Given the description of an element on the screen output the (x, y) to click on. 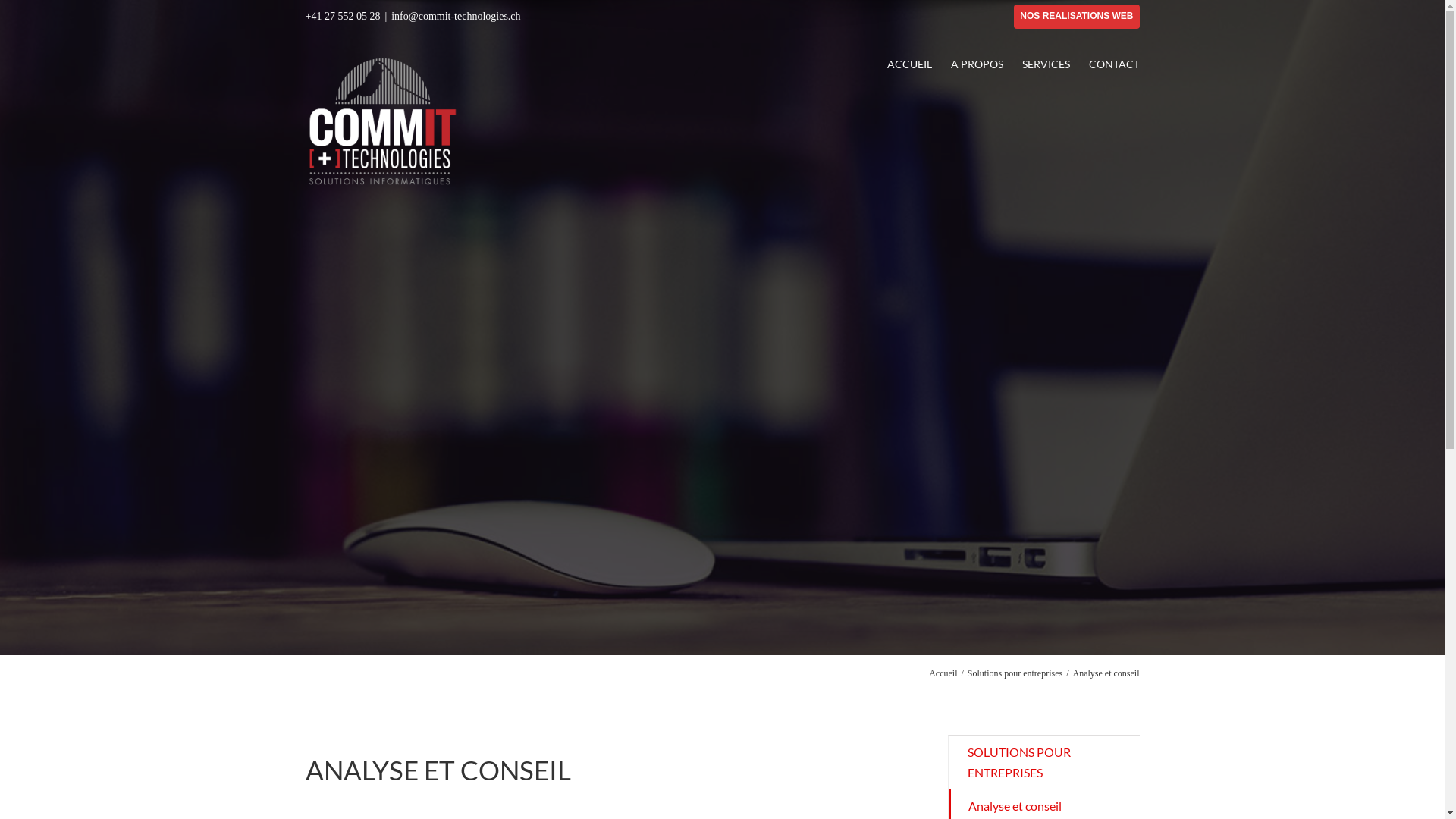
NOS REALISATIONS WEB Element type: text (1076, 16)
A PROPOS Element type: text (976, 63)
SERVICES Element type: text (1046, 63)
CONTACT Element type: text (1113, 63)
Accueil Element type: text (942, 673)
SOLUTIONS POUR ENTREPRISES Element type: text (1043, 762)
ACCUEIL Element type: text (909, 63)
info@commit-technologies.ch Element type: text (455, 15)
Solutions pour entreprises Element type: text (1014, 673)
